Given the description of an element on the screen output the (x, y) to click on. 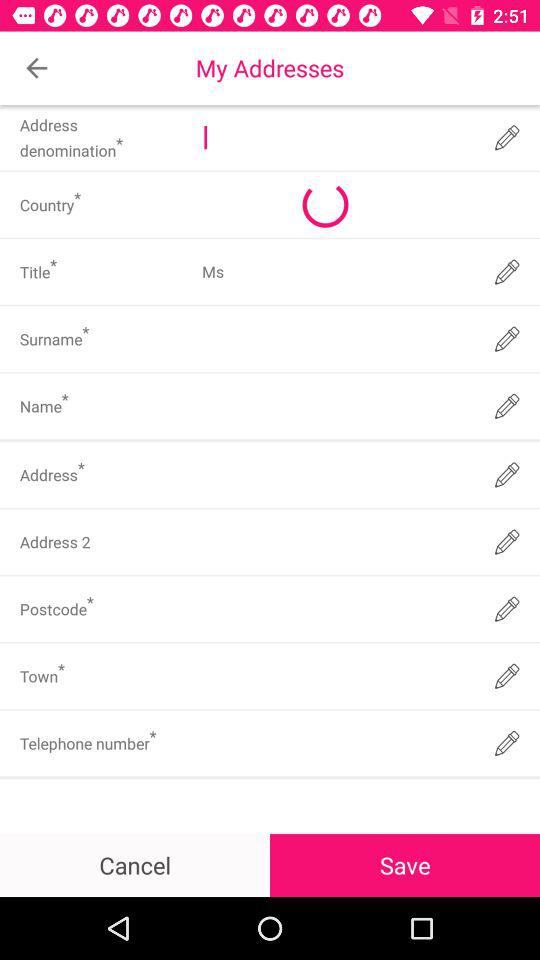
town text entry field (335, 676)
